Given the description of an element on the screen output the (x, y) to click on. 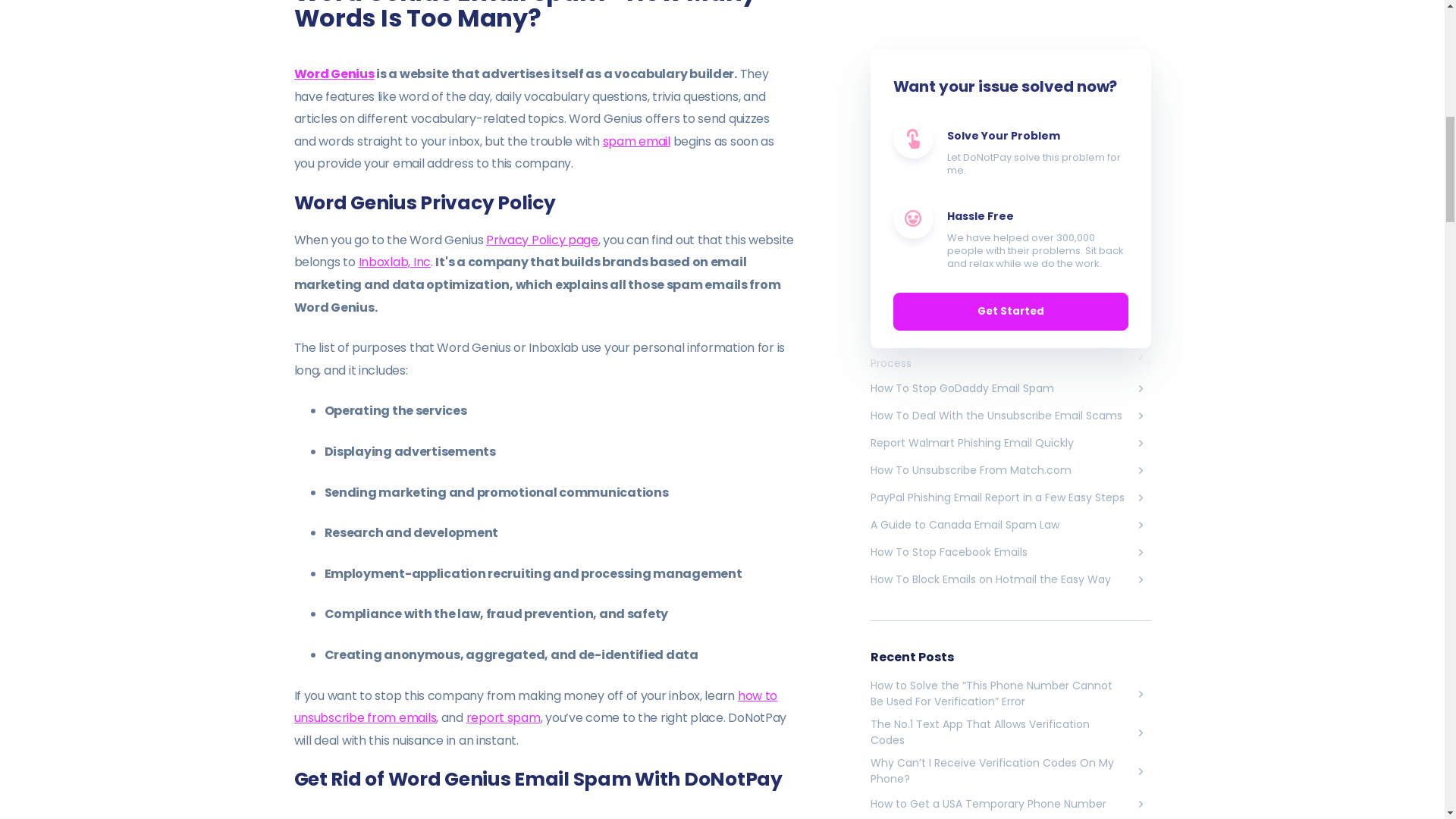
how to unsubscribe from emails (535, 707)
Word Genius (334, 73)
spam email (635, 140)
report spam (502, 717)
Inboxlab, Inc (394, 262)
Privacy Policy page (542, 239)
